Given the description of an element on the screen output the (x, y) to click on. 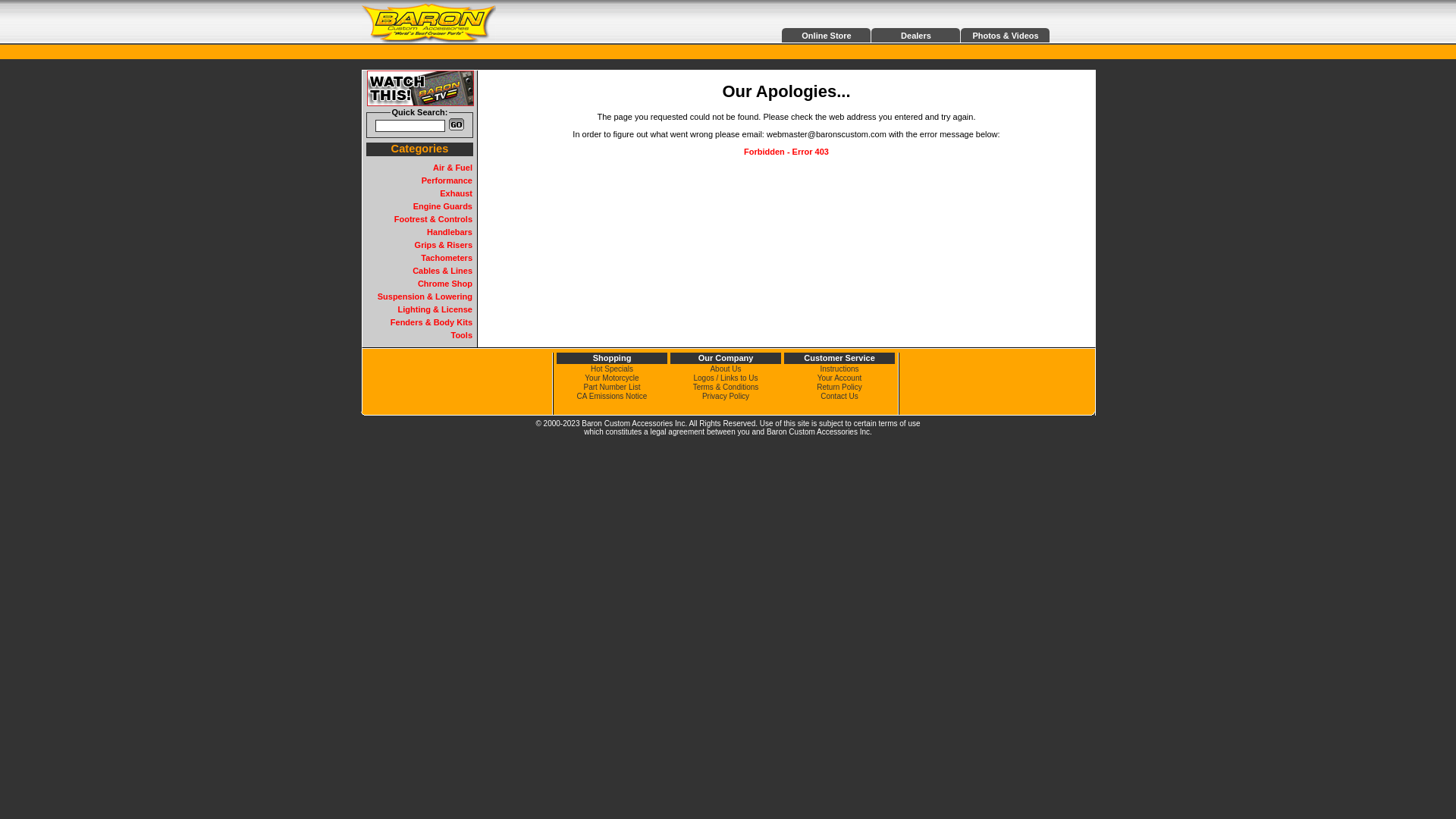
Engine Guards Element type: text (442, 205)
Chrome Shop Element type: text (444, 283)
CA Emissions Notice Element type: text (612, 396)
Your Account Element type: text (839, 377)
Grips & Risers Element type: text (443, 244)
Instructions Element type: text (838, 368)
Footrest & Controls Element type: text (433, 218)
Photos & Videos Element type: text (1005, 36)
Return Policy Element type: text (838, 386)
Privacy Policy Element type: text (725, 396)
Handlebars Element type: text (449, 231)
Exhaust Element type: text (455, 192)
Tachometers Element type: text (446, 257)
About Us Element type: text (724, 368)
Contact Us Element type: text (838, 396)
Fenders & Body Kits Element type: text (431, 321)
Terms & Conditions Element type: text (726, 386)
Online Store Element type: text (826, 36)
Dealers Element type: text (915, 36)
Cables & Lines Element type: text (442, 270)
Your Motorcycle Element type: text (611, 377)
Air & Fuel Element type: text (452, 167)
Logos / Links to Us Element type: text (725, 377)
Part Number List Element type: text (611, 386)
Performance Element type: text (446, 180)
Tools Element type: text (461, 334)
Suspension & Lowering Element type: text (424, 296)
Hot Specials Element type: text (611, 368)
Lighting & License Element type: text (435, 308)
